Given the description of an element on the screen output the (x, y) to click on. 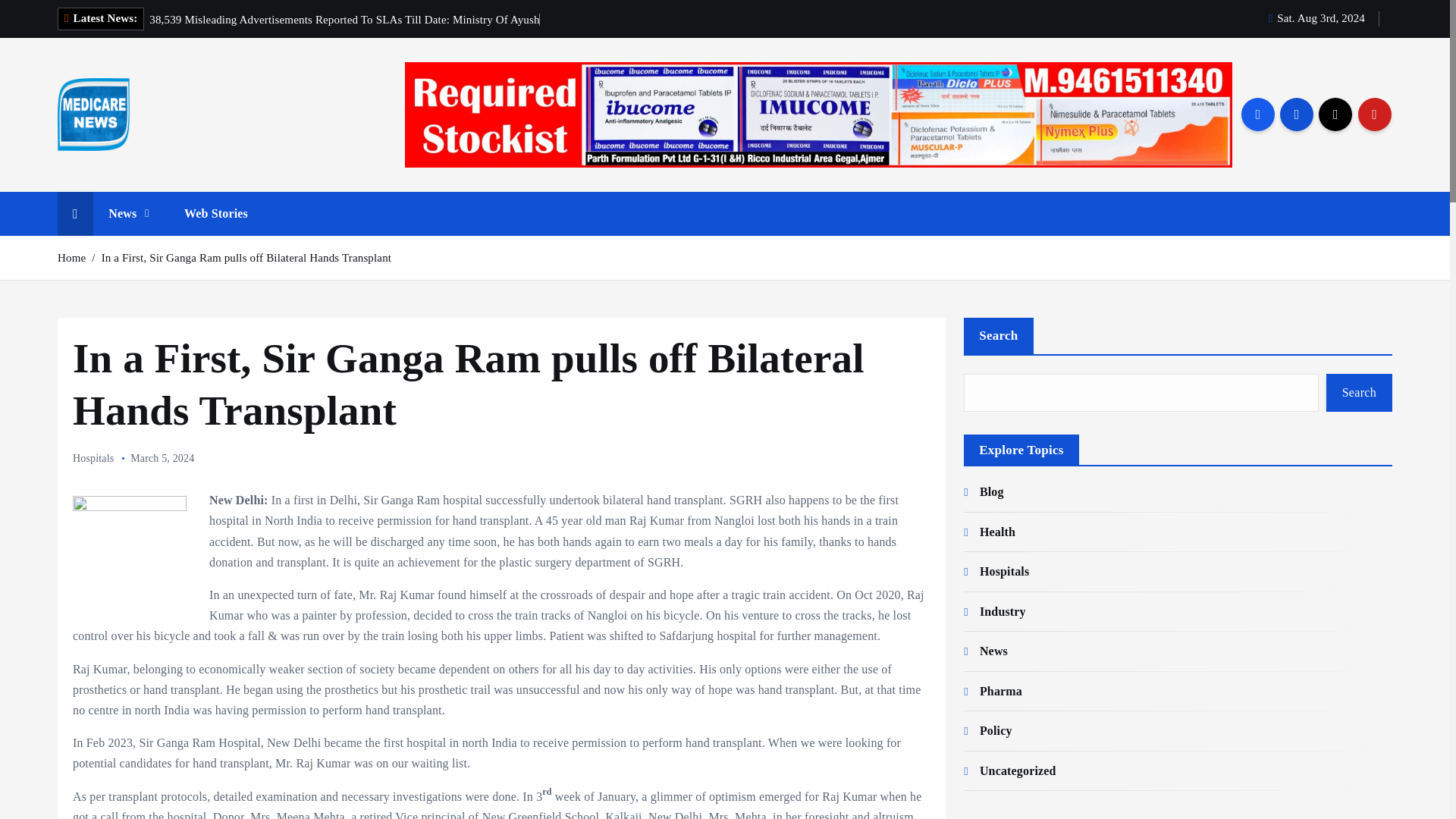
News (128, 213)
Web Stories (215, 213)
Web Stories (215, 213)
News (128, 213)
